Given the description of an element on the screen output the (x, y) to click on. 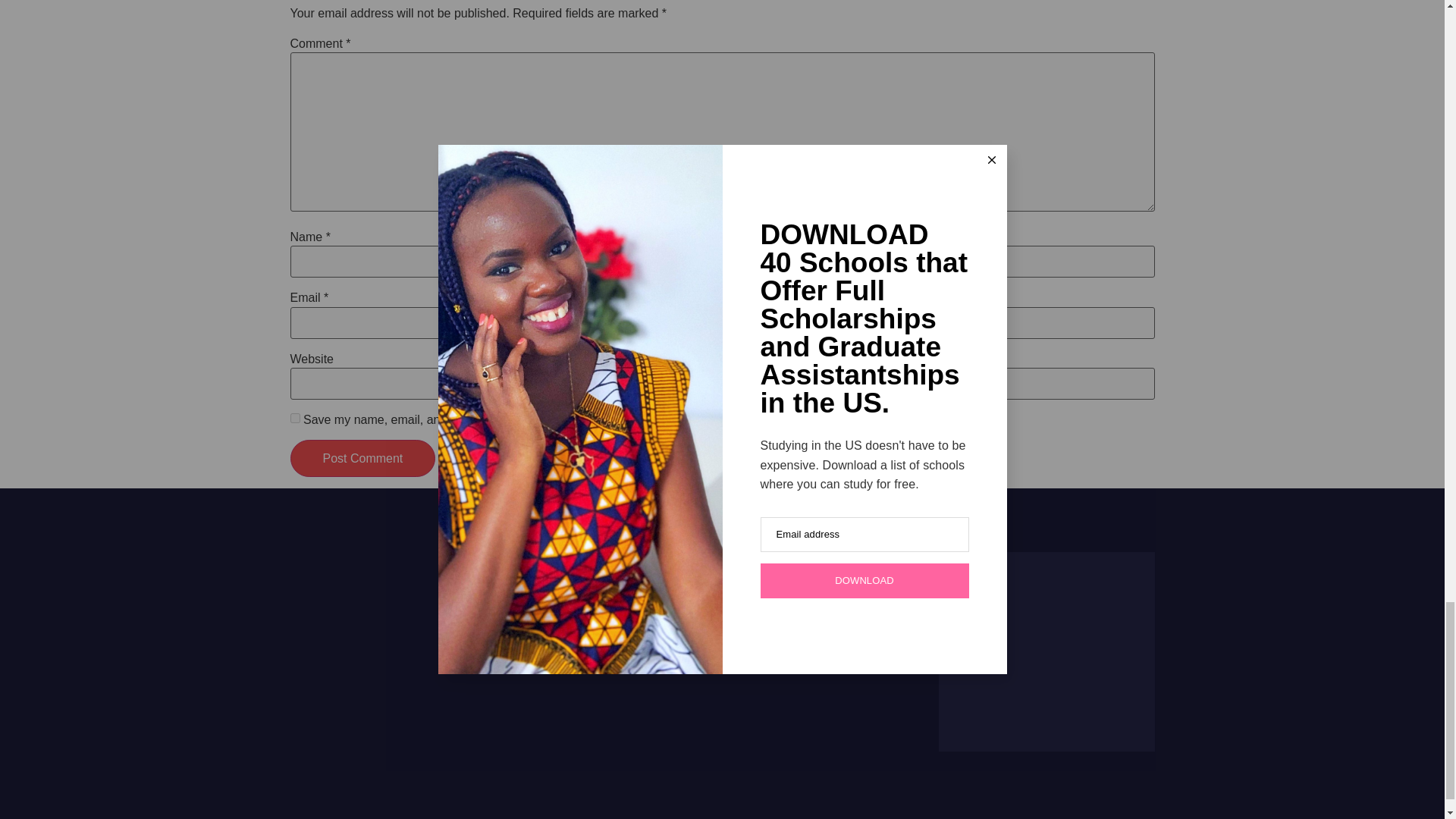
yes (294, 418)
Post Comment (362, 458)
